Given the description of an element on the screen output the (x, y) to click on. 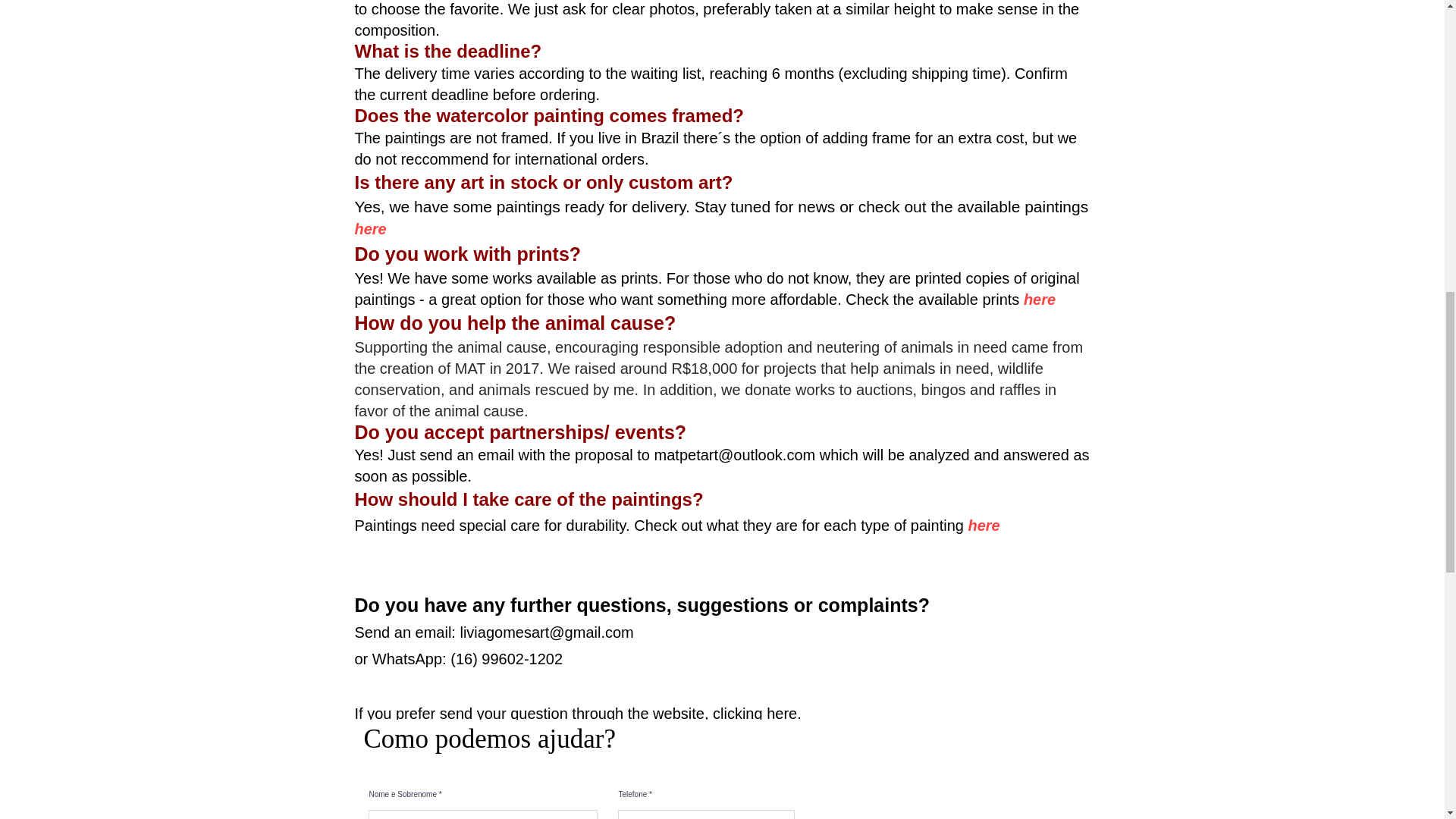
here (1039, 299)
here (371, 228)
here (983, 524)
